Given the description of an element on the screen output the (x, y) to click on. 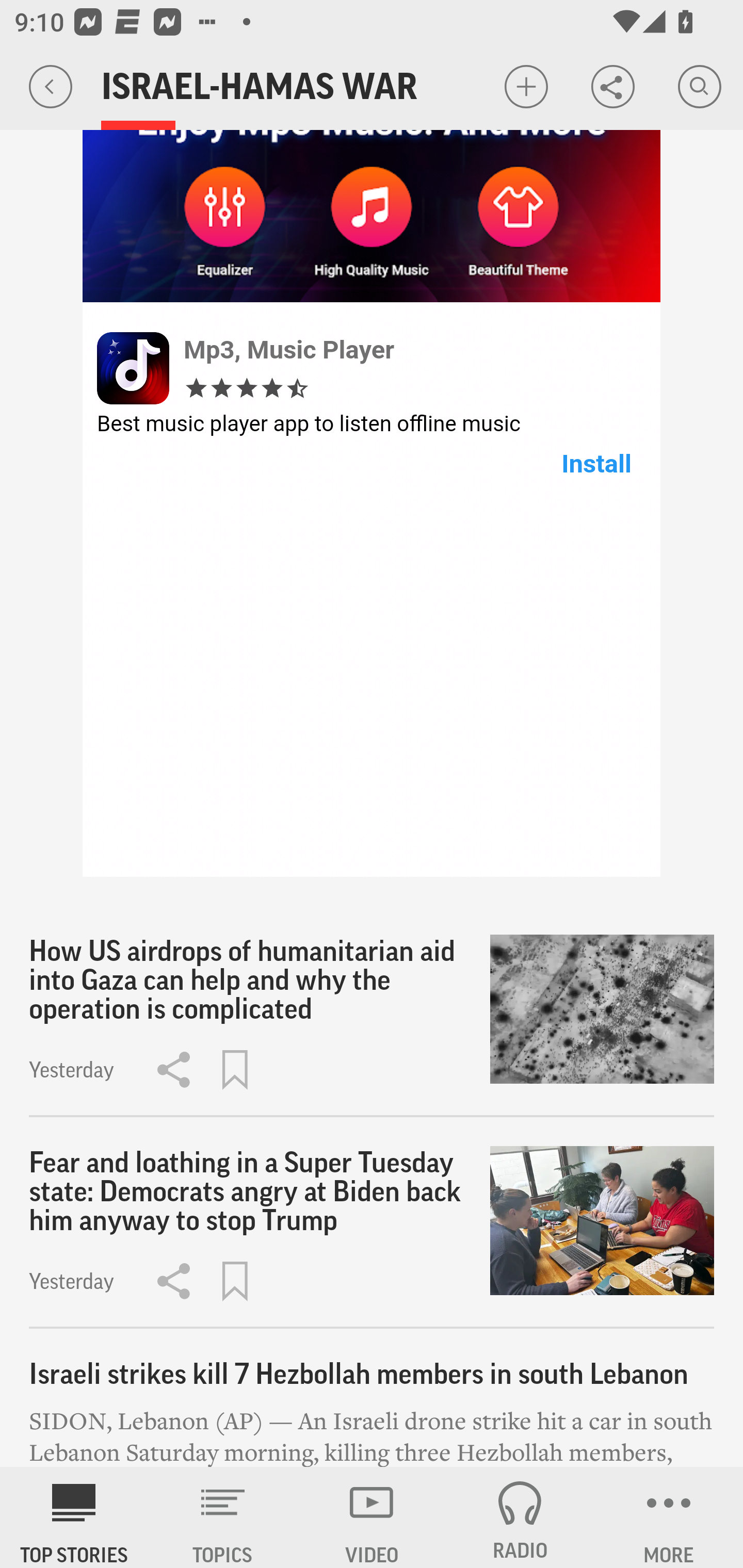
Mp3, Music Player (288, 348)
Best music player app to listen offline music (308, 423)
Install (595, 462)
AP News TOP STORIES (74, 1517)
TOPICS (222, 1517)
VIDEO (371, 1517)
RADIO (519, 1517)
MORE (668, 1517)
